Given the description of an element on the screen output the (x, y) to click on. 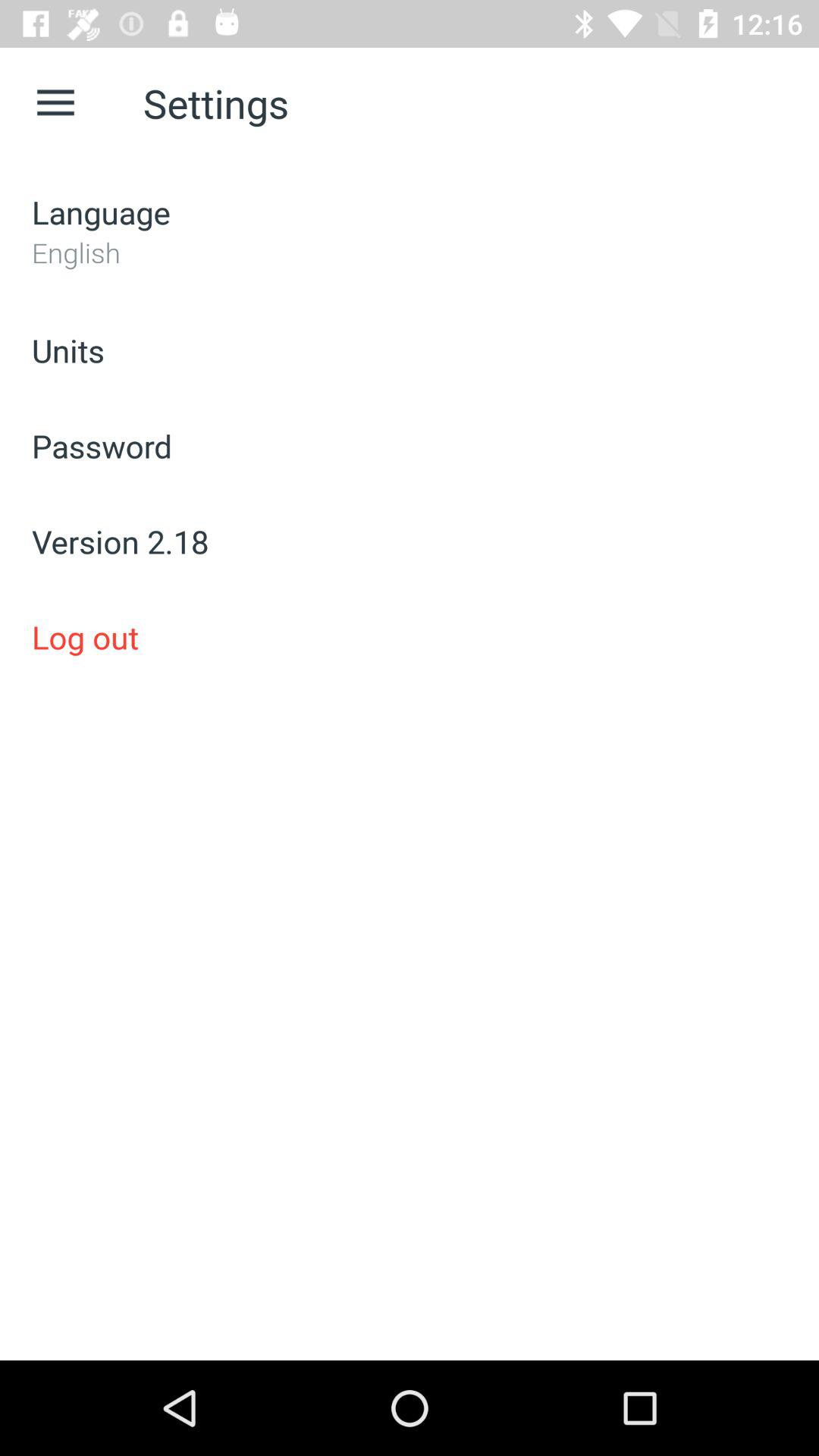
jump to log out icon (409, 636)
